Given the description of an element on the screen output the (x, y) to click on. 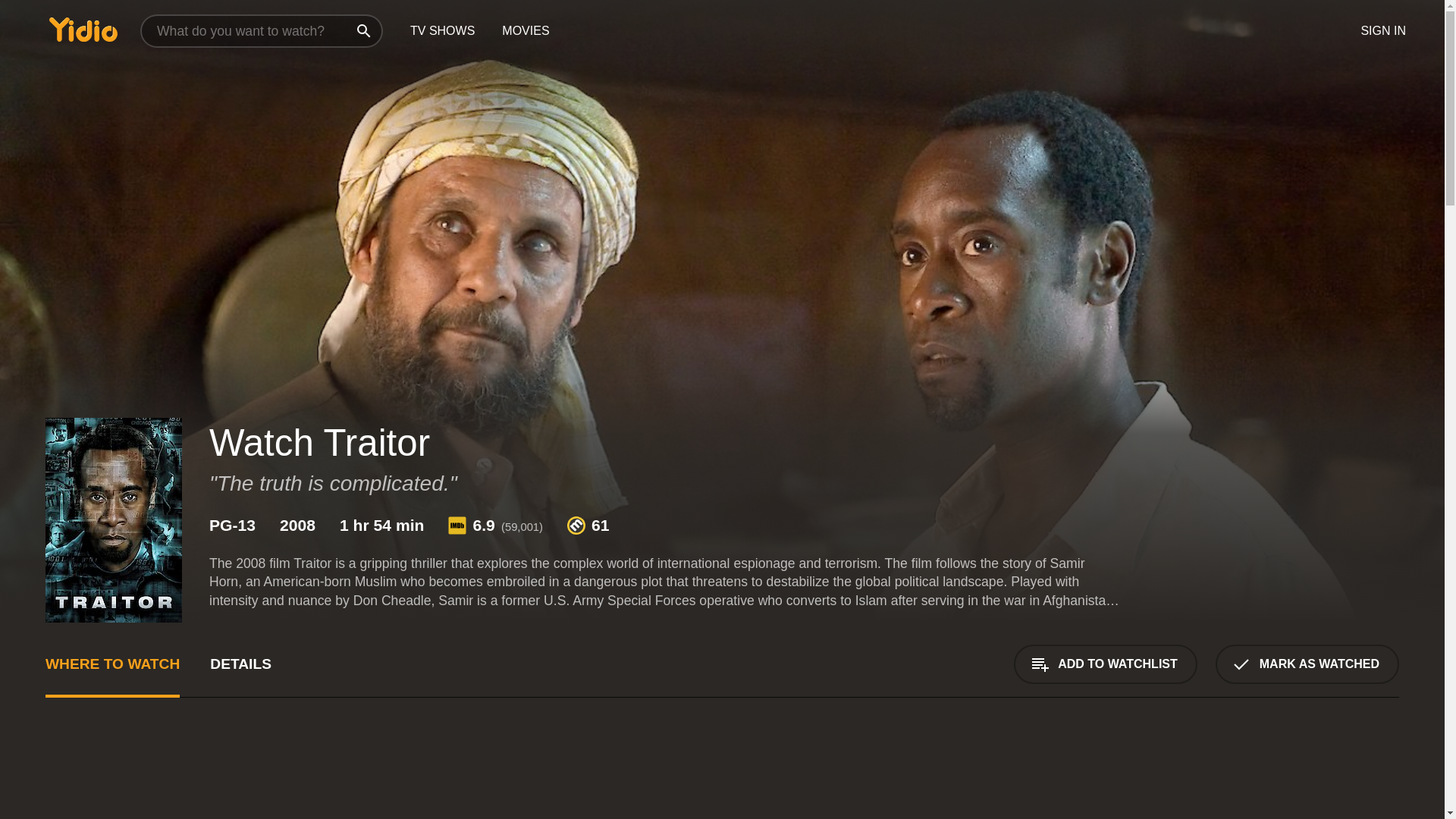
MOVIES (524, 31)
Advertisement (500, 776)
Advertisement (1285, 776)
MARK AS WATCHED (1307, 663)
TV SHOWS (441, 31)
Yidio (82, 29)
ADD TO WATCHLIST (1104, 663)
